Given the description of an element on the screen output the (x, y) to click on. 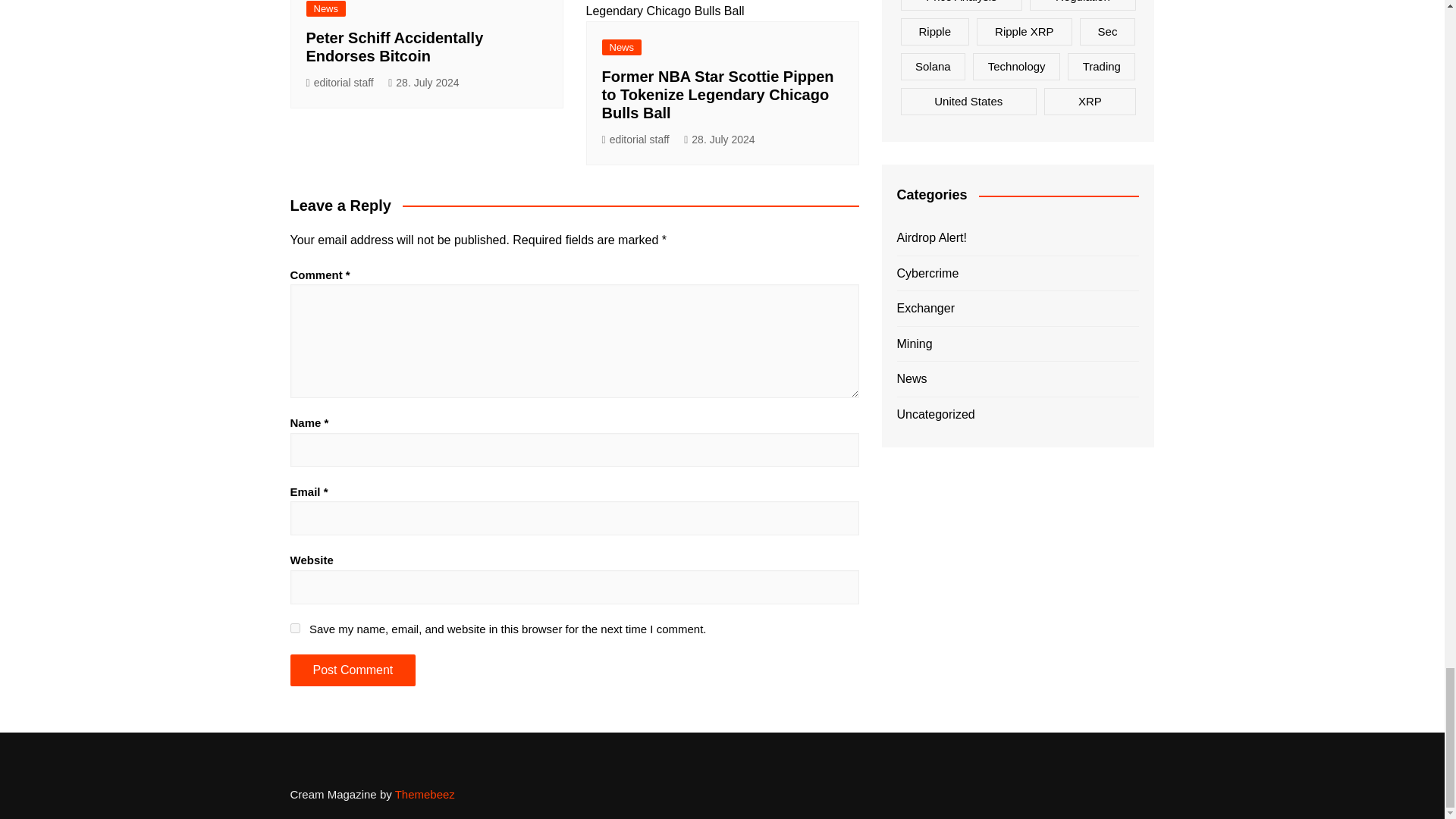
yes (294, 628)
Post Comment (351, 670)
